Given the description of an element on the screen output the (x, y) to click on. 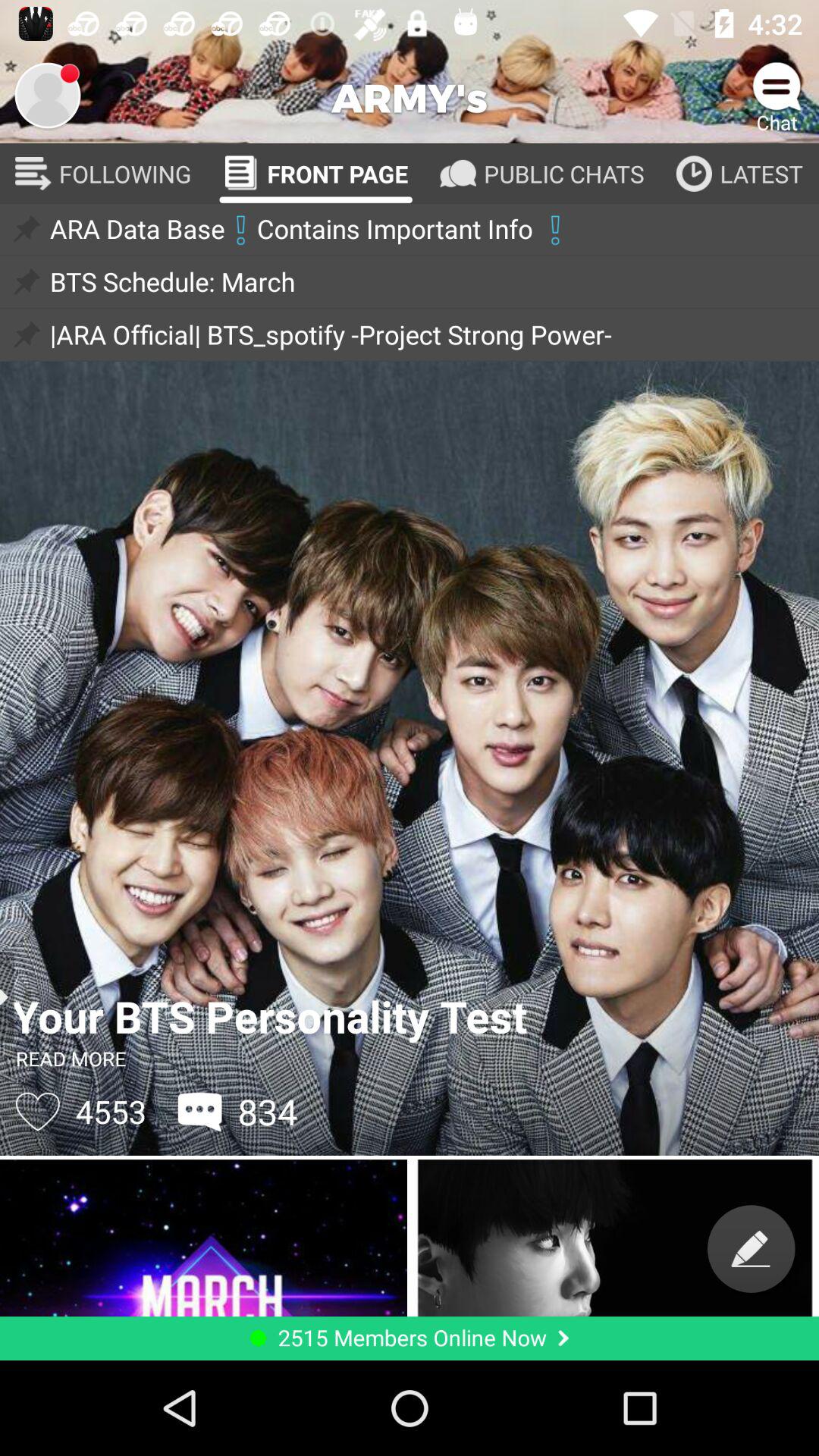
account info (47, 95)
